Given the description of an element on the screen output the (x, y) to click on. 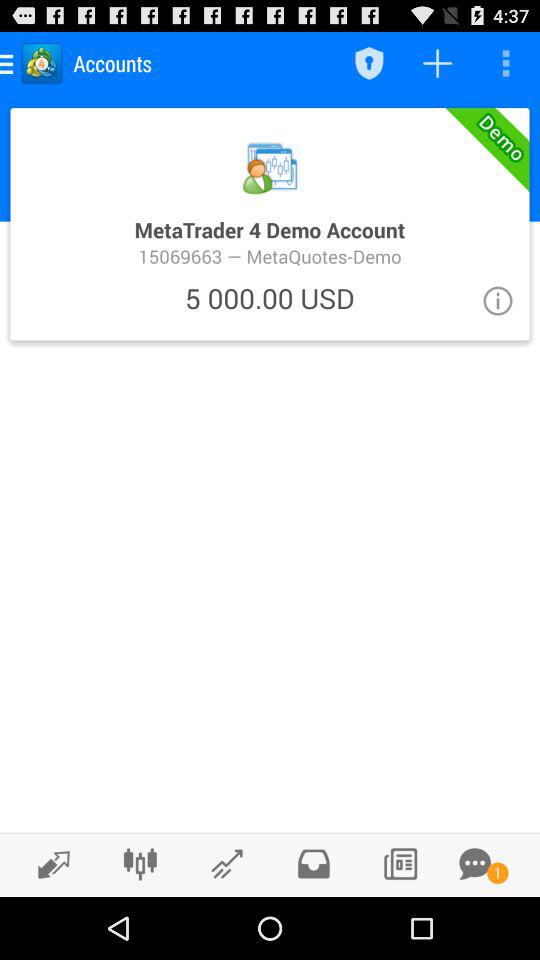
open information page (497, 300)
